Given the description of an element on the screen output the (x, y) to click on. 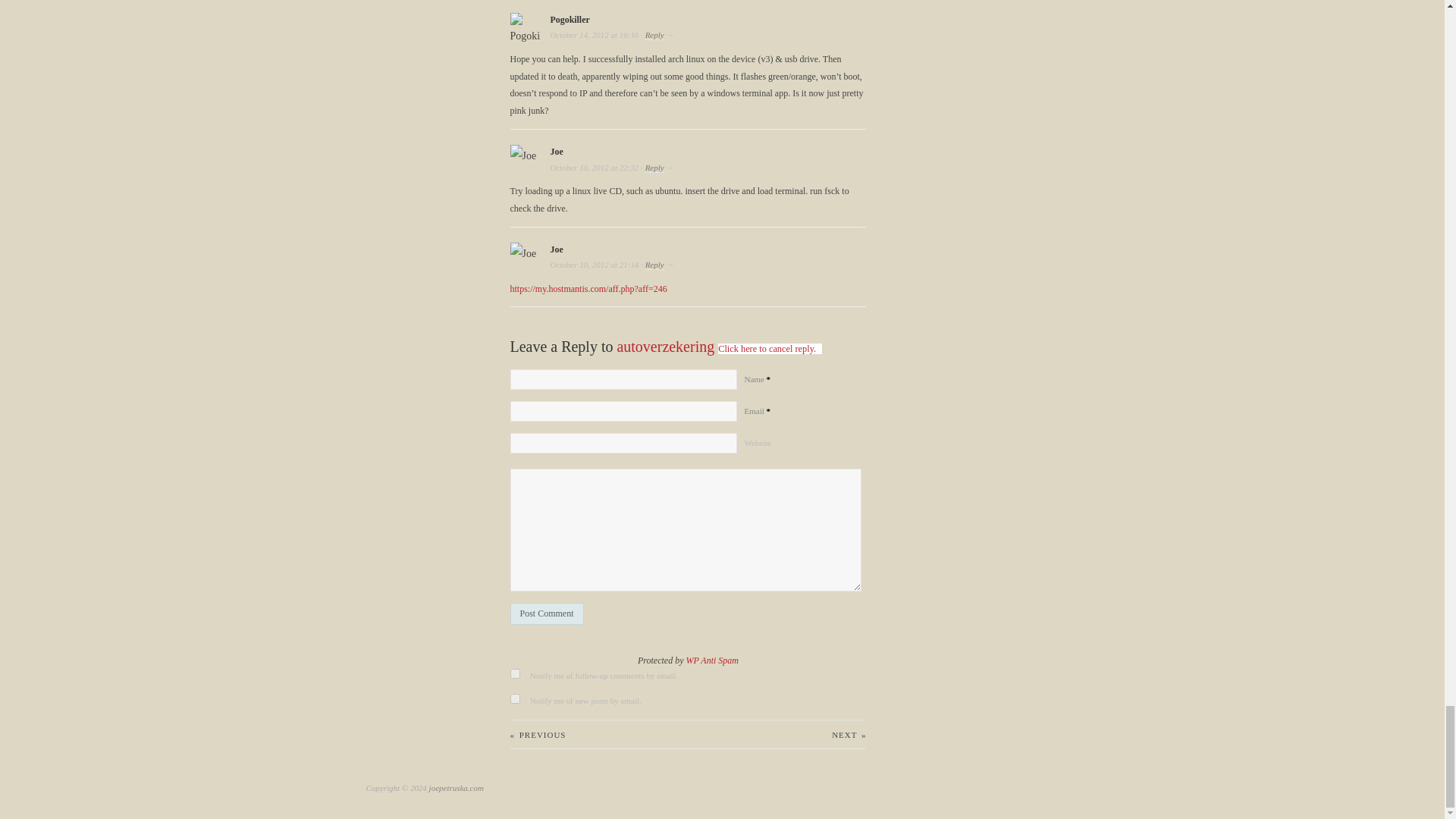
subscribe (514, 673)
Post Comment (546, 613)
subscribe (514, 698)
